Given the description of an element on the screen output the (x, y) to click on. 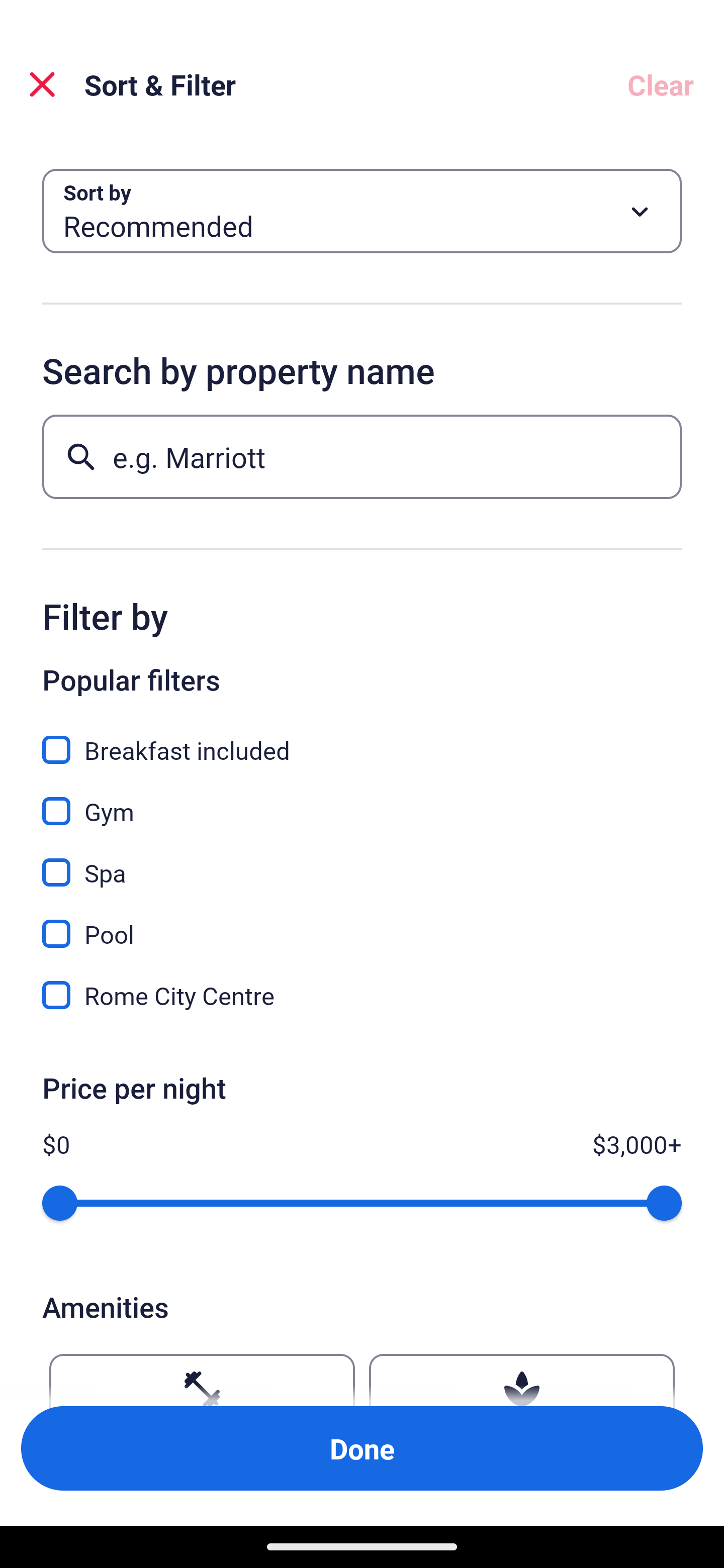
Close Sort and Filter (42, 84)
Clear (660, 84)
Sort by Button Recommended (361, 211)
e.g. Marriott Button (361, 455)
Breakfast included, Breakfast included (361, 738)
Gym, Gym (361, 800)
Spa, Spa (361, 861)
Pool, Pool (361, 922)
Rome City Centre, Rome City Centre (361, 995)
Apply and close Sort and Filter Done (361, 1448)
